Given the description of an element on the screen output the (x, y) to click on. 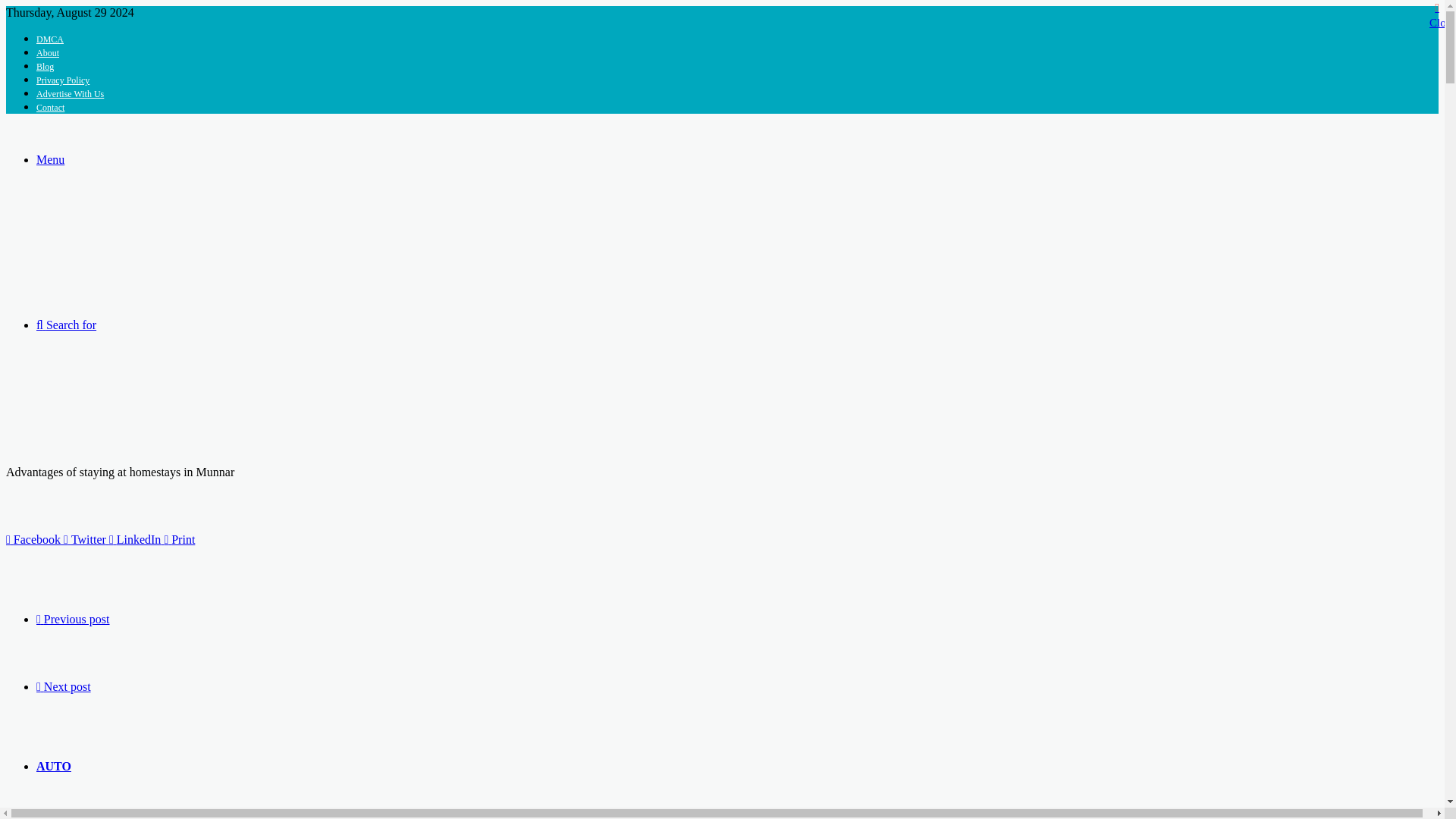
Blog (44, 66)
Menu (50, 159)
Previous post (73, 618)
AUTO (53, 766)
Contact (50, 107)
Facebook (34, 539)
Print (179, 539)
Search for (66, 324)
Twitter (86, 539)
Print (179, 539)
